Given the description of an element on the screen output the (x, y) to click on. 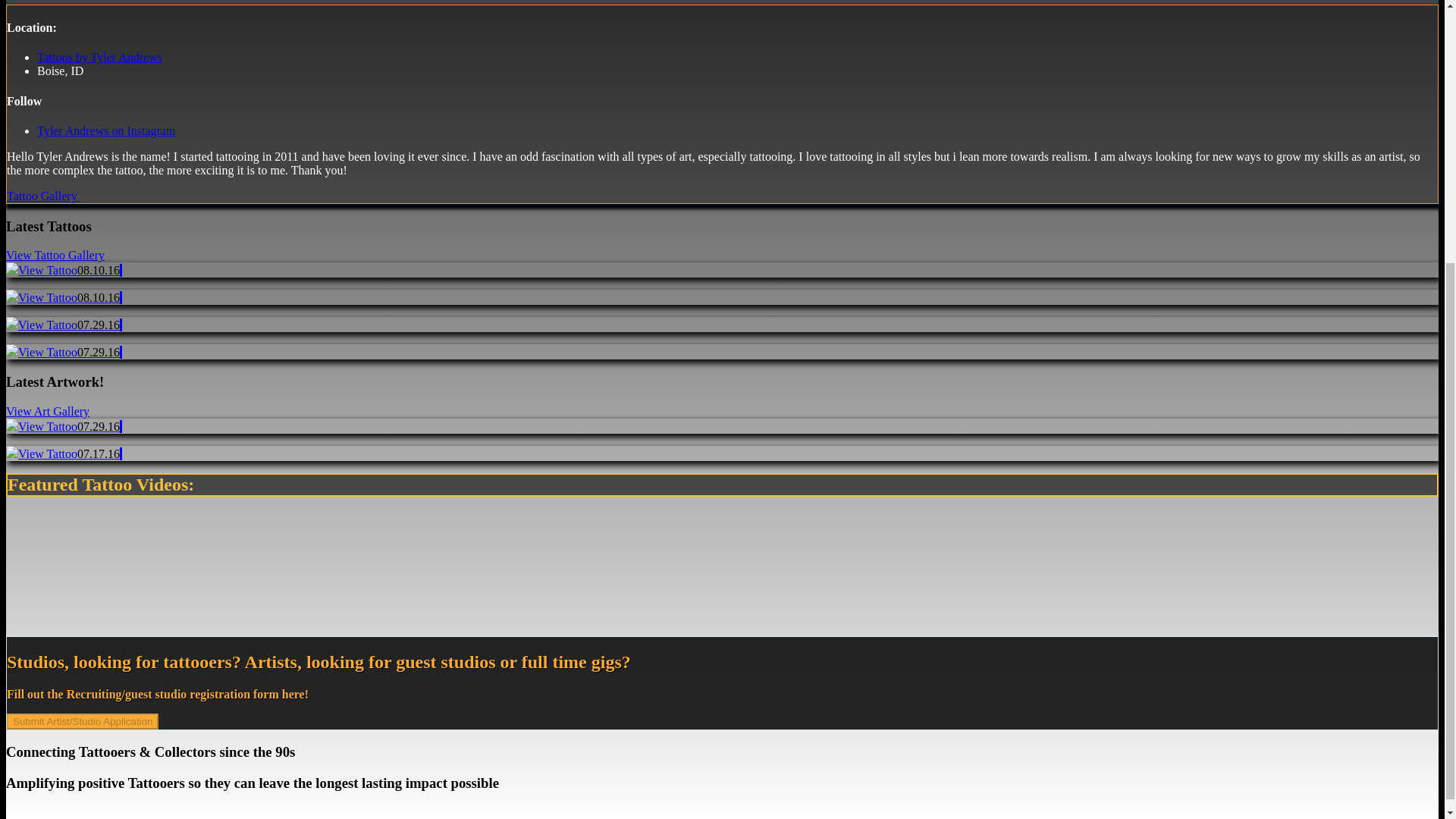
View Art Gallery (46, 410)
View Tattoo07.29.16 (62, 351)
View Tattoo08.10.16 (62, 269)
Tyler Andrews on Instagram (105, 130)
Tattoo Gallery  (43, 195)
View Tattoo08.10.16 (62, 297)
View Tattoo07.29.16 (62, 324)
View Tattoo Gallery (54, 254)
Tattoos by Tyler Andrews (99, 56)
View Tattoo07.29.16 (62, 426)
